Given the description of an element on the screen output the (x, y) to click on. 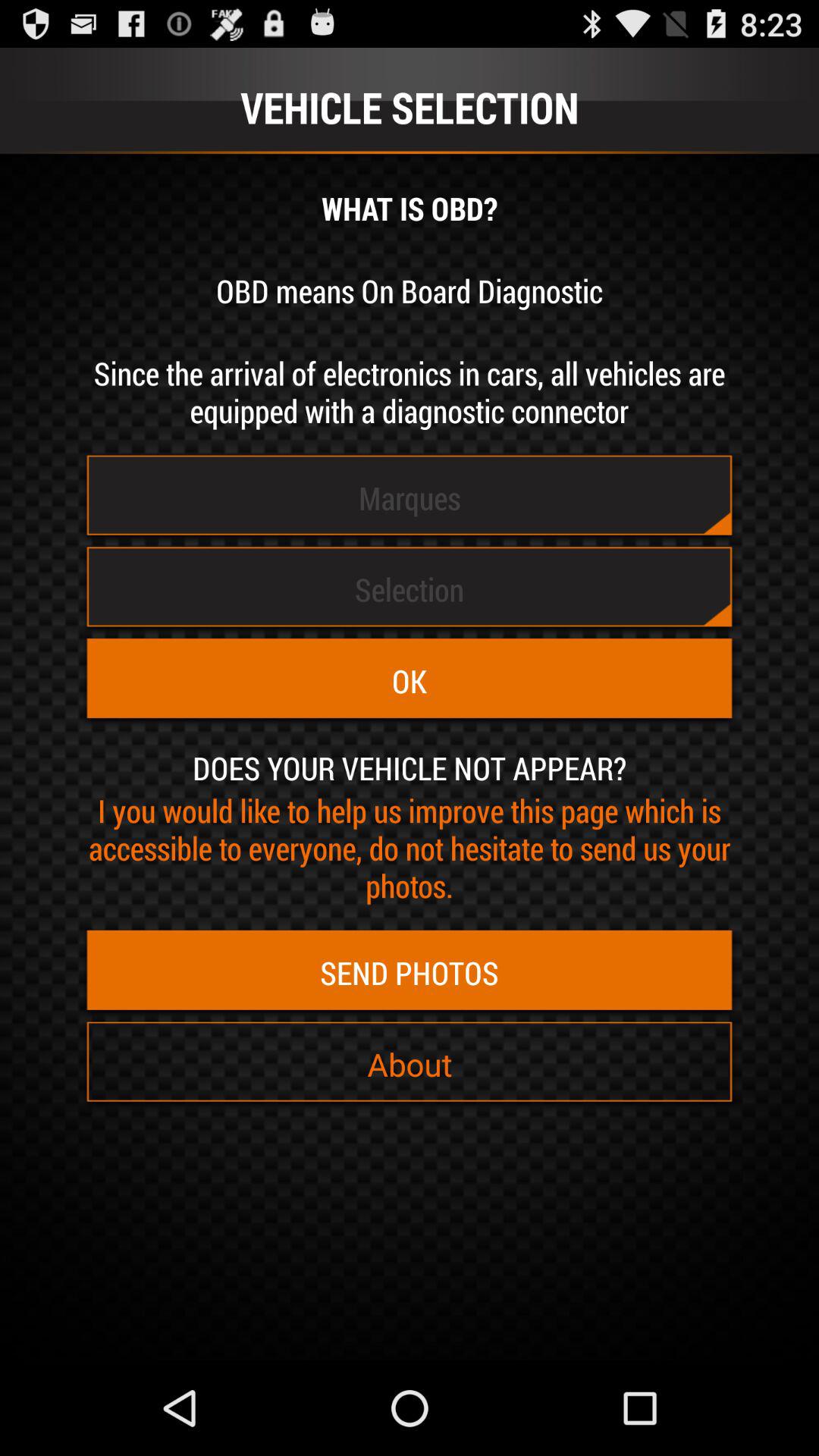
turn off the marques (409, 497)
